Given the description of an element on the screen output the (x, y) to click on. 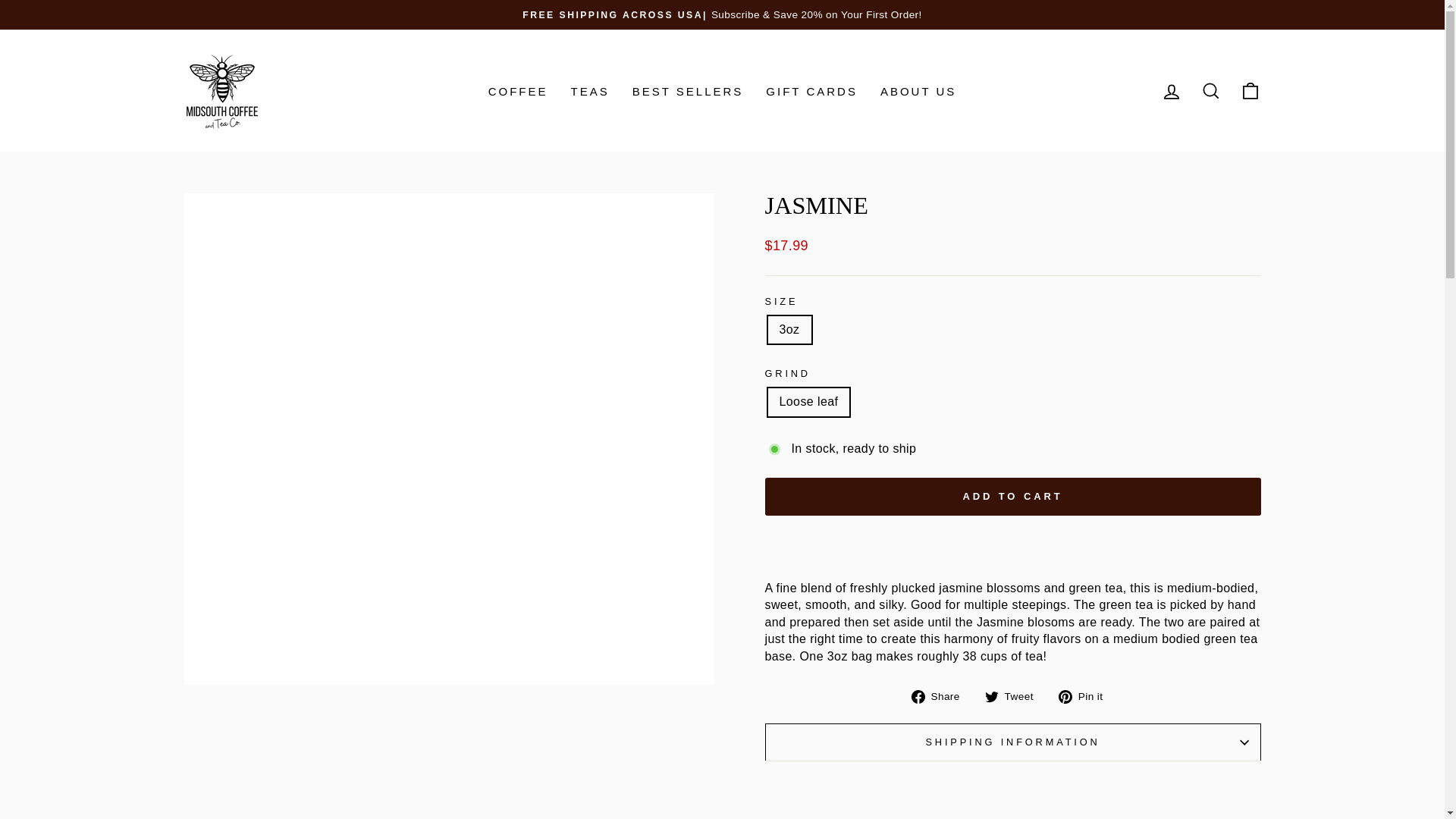
ABOUT US (918, 90)
LOG IN (1171, 91)
COFFEE (518, 90)
SEARCH (1210, 91)
CART (1249, 91)
Pin on Pinterest (1085, 695)
Share on Facebook (941, 695)
TEAS (590, 90)
Tweet on Twitter (1015, 695)
BEST SELLERS (688, 90)
GIFT CARDS (811, 90)
